Given the description of an element on the screen output the (x, y) to click on. 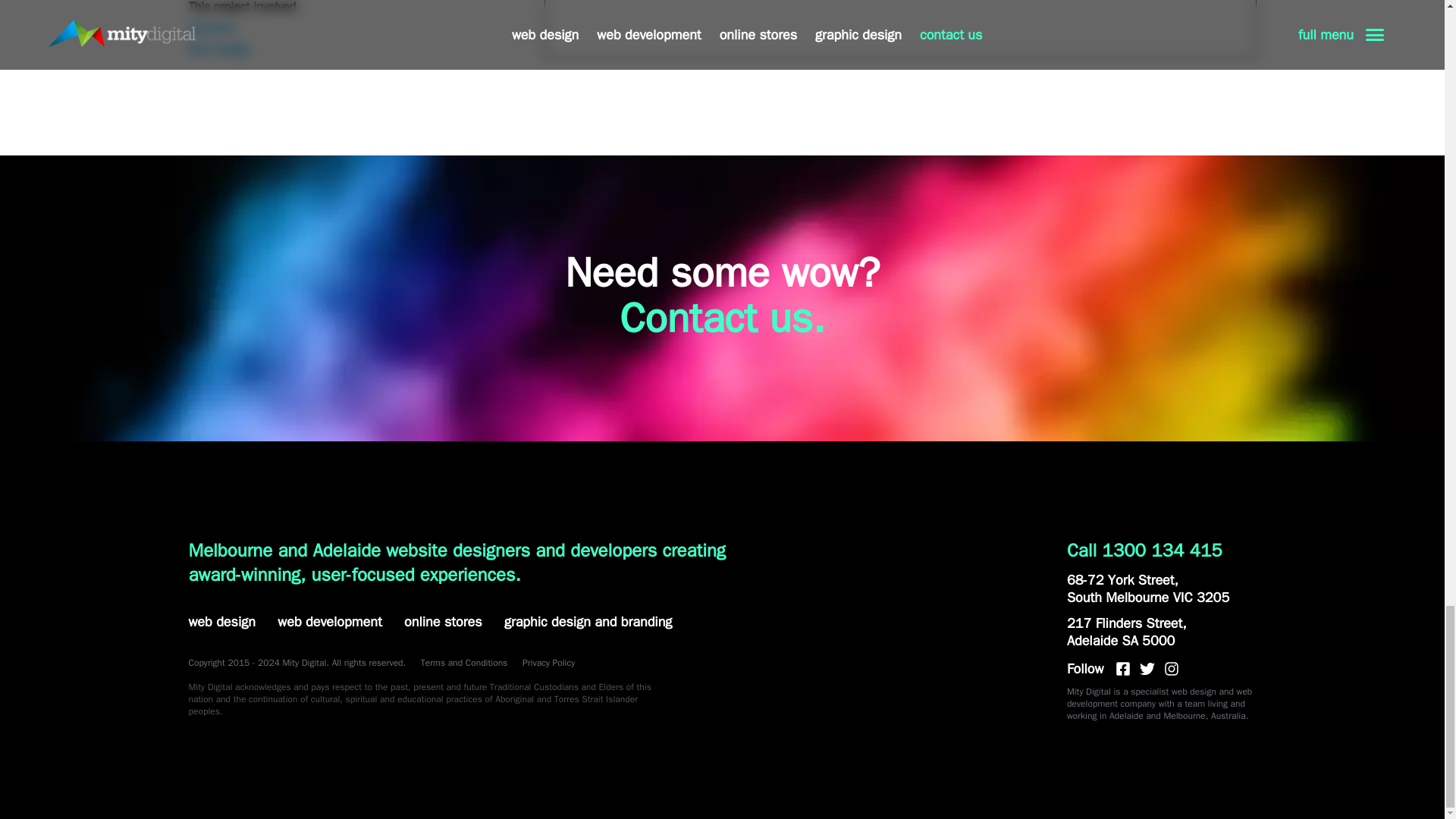
graphic design and branding (587, 621)
Follow us on Instagram (1171, 668)
Terms and Conditions (464, 662)
Privacy Policy (548, 662)
Contact us. (722, 317)
Find us on Facebook (1123, 668)
Connect with us on Twitter (1147, 668)
Contact us. (722, 317)
web development (329, 621)
web design (220, 621)
